Given the description of an element on the screen output the (x, y) to click on. 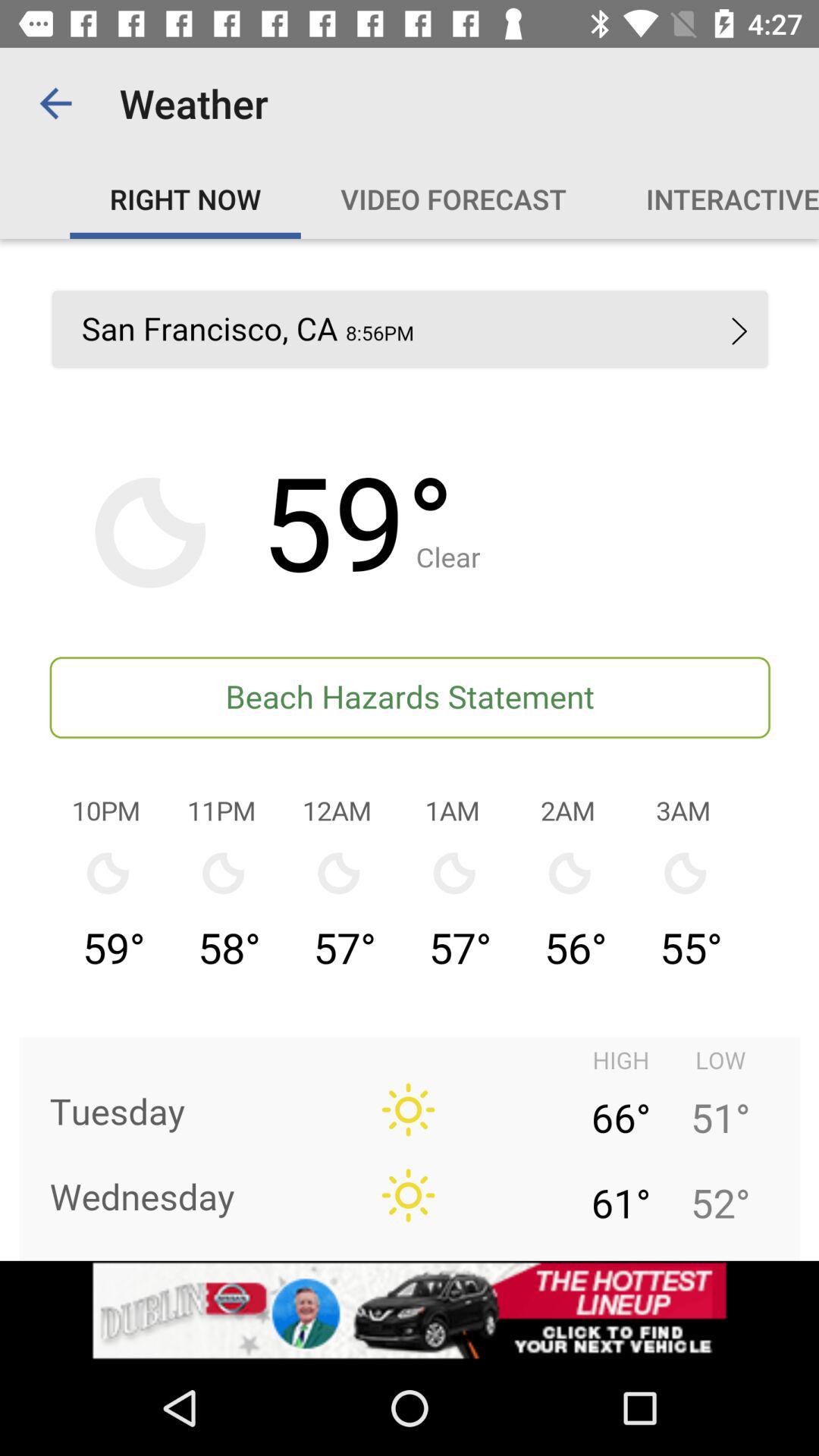
select the page (409, 749)
